Given the description of an element on the screen output the (x, y) to click on. 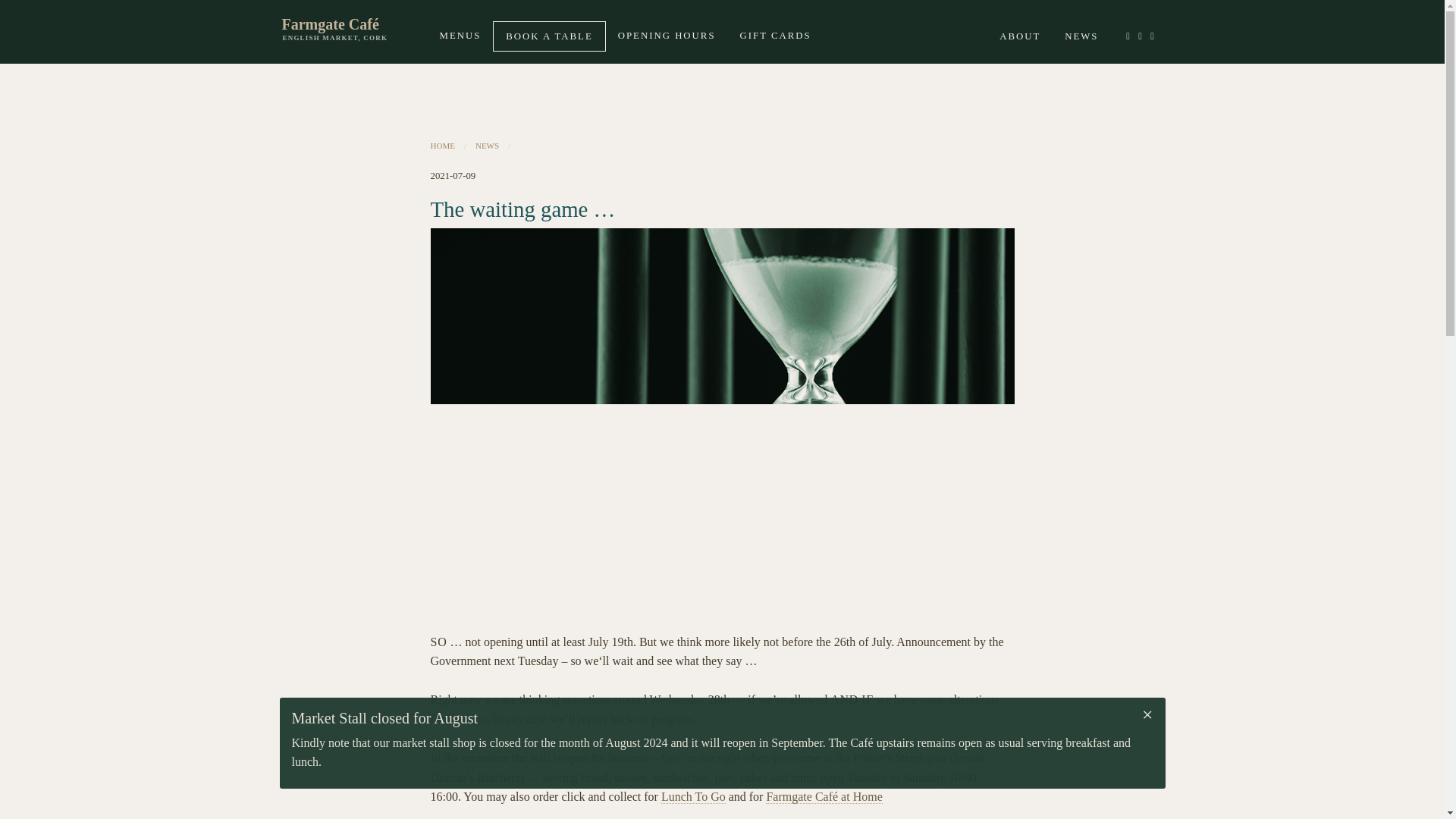
OPENING HOURS (666, 35)
NEWS (1080, 36)
MENUS (460, 35)
 go to home page  (355, 23)
GIFT CARDS (776, 35)
ABOUT (1019, 36)
BOOK A TABLE (548, 36)
